Given the description of an element on the screen output the (x, y) to click on. 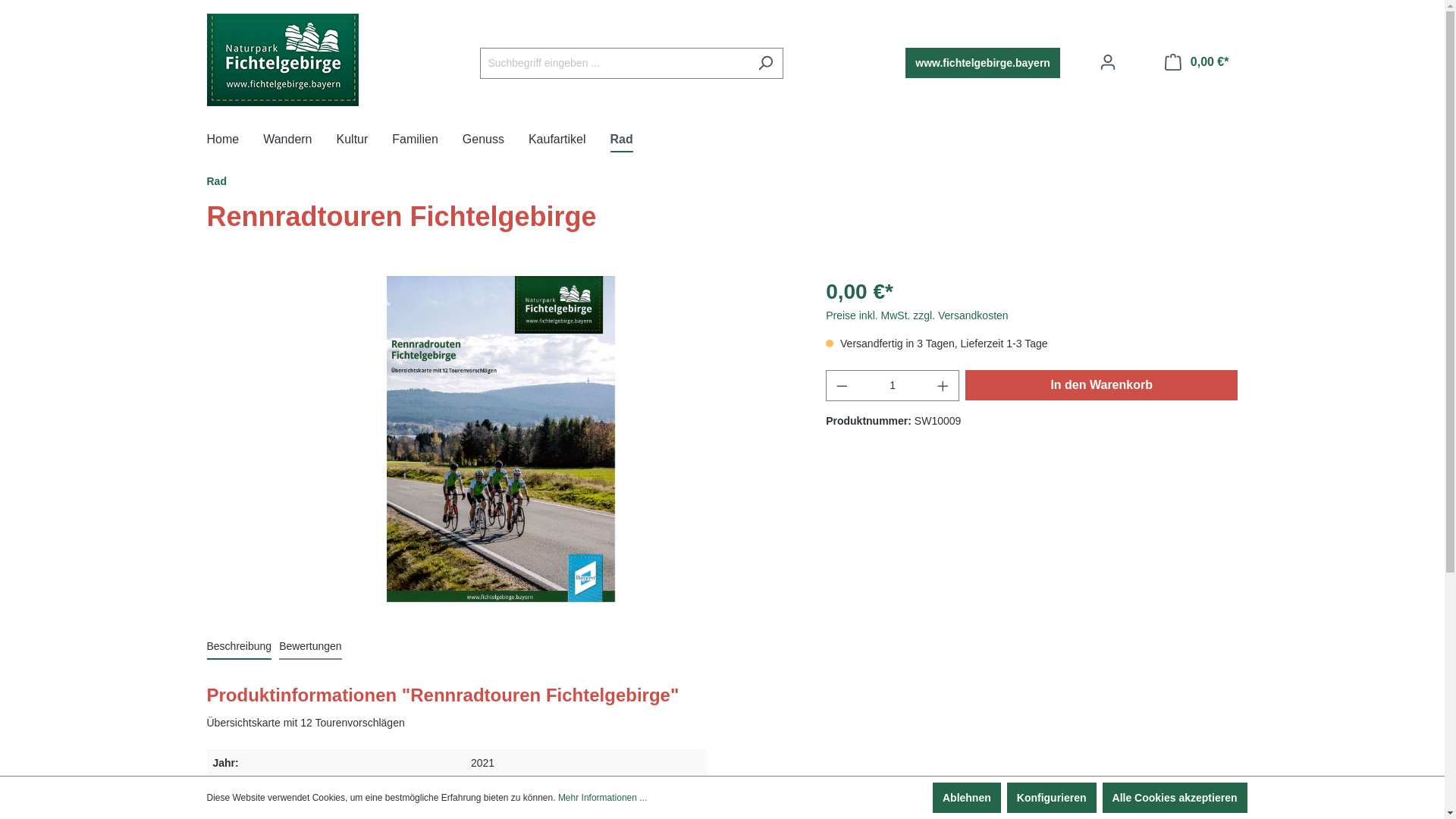
Zur Startseite gehen Element type: hover (281, 59)
Kultur Element type: text (364, 141)
In den Warenkorb Element type: text (1101, 385)
Alle Cookies akzeptieren Element type: text (1174, 797)
Rennradtouren Fichtelgebirge Element type: hover (500, 439)
Wandern Element type: text (299, 141)
Preise inkl. MwSt. zzgl. Versandkosten Element type: text (916, 315)
Familien Element type: text (426, 141)
Mehr Informationen ... Element type: text (602, 797)
Home Element type: text (234, 141)
Ihr Konto Element type: hover (1107, 61)
Rad Element type: text (215, 181)
Genuss Element type: text (495, 141)
Konfigurieren Element type: text (1051, 797)
Bewertungen Element type: text (310, 645)
Kaufartikel Element type: text (569, 141)
Beschreibung Element type: text (238, 645)
Rad Element type: text (633, 141)
www.fichtelgebirge.bayern Element type: text (982, 62)
Ablehnen Element type: text (966, 797)
